Given the description of an element on the screen output the (x, y) to click on. 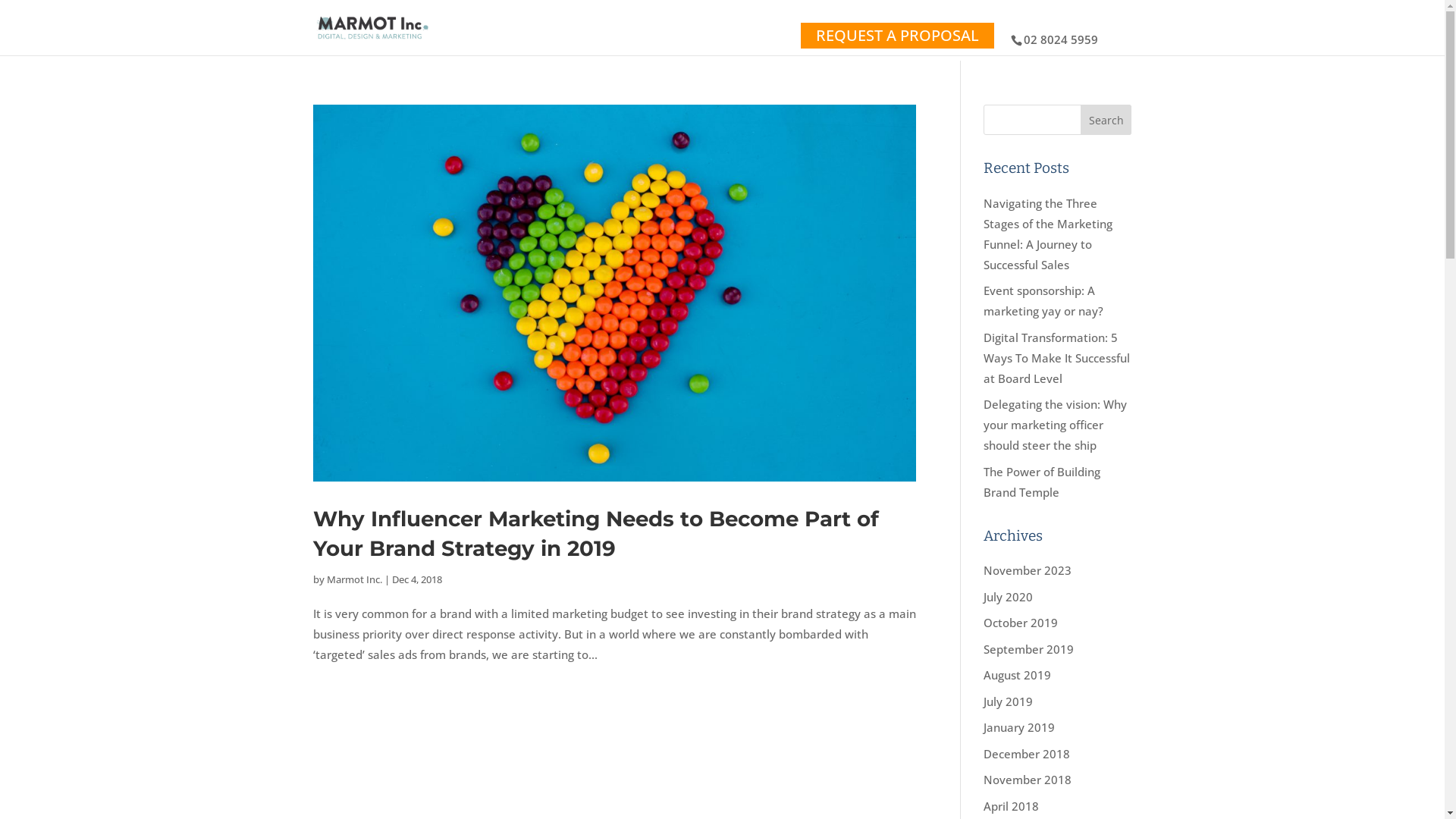
November 2018 Element type: text (1027, 779)
The Power of Building Brand Temple Element type: text (1041, 481)
REQUEST A PROPOSAL Element type: text (897, 35)
January 2019 Element type: text (1018, 726)
November 2023 Element type: text (1027, 569)
July 2019 Element type: text (1007, 700)
Event sponsorship: A marketing yay or nay? Element type: text (1043, 300)
September 2019 Element type: text (1028, 648)
December 2018 Element type: text (1026, 753)
October 2019 Element type: text (1020, 622)
Search Element type: text (1106, 119)
April 2018 Element type: text (1010, 804)
July 2020 Element type: text (1007, 595)
02 8024 5959 Element type: text (1060, 39)
Marmot Inc. Element type: text (353, 579)
August 2019 Element type: text (1017, 674)
